Given the description of an element on the screen output the (x, y) to click on. 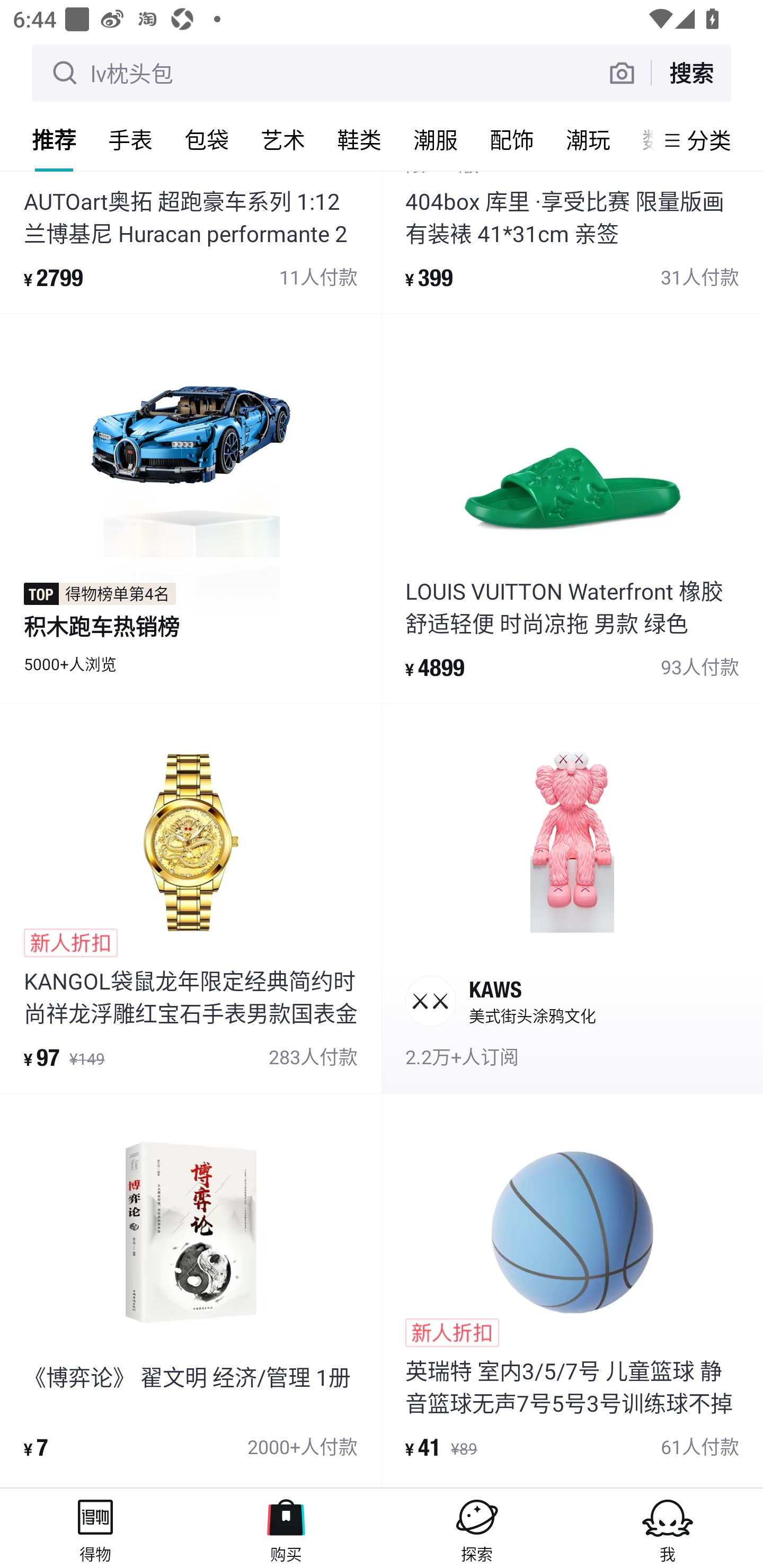
搜索 (690, 72)
推荐 (54, 139)
手表 (130, 139)
包袋 (206, 139)
艺术 (282, 139)
鞋类 (359, 139)
潮服 (435, 139)
配饰 (511, 139)
潮玩 (588, 139)
分类 (708, 139)
得物榜单第4名 积木跑车热销榜 5000+人浏览 (190, 508)
KAWS 美式街头涂鸦文化 2.2万+人订阅 (572, 898)
product_item 《博弈论》 翟文明 经济/管理 1册 ¥ 7 2000+人付款 (190, 1288)
得物 (95, 1528)
购买 (285, 1528)
探索 (476, 1528)
我 (667, 1528)
